Given the description of an element on the screen output the (x, y) to click on. 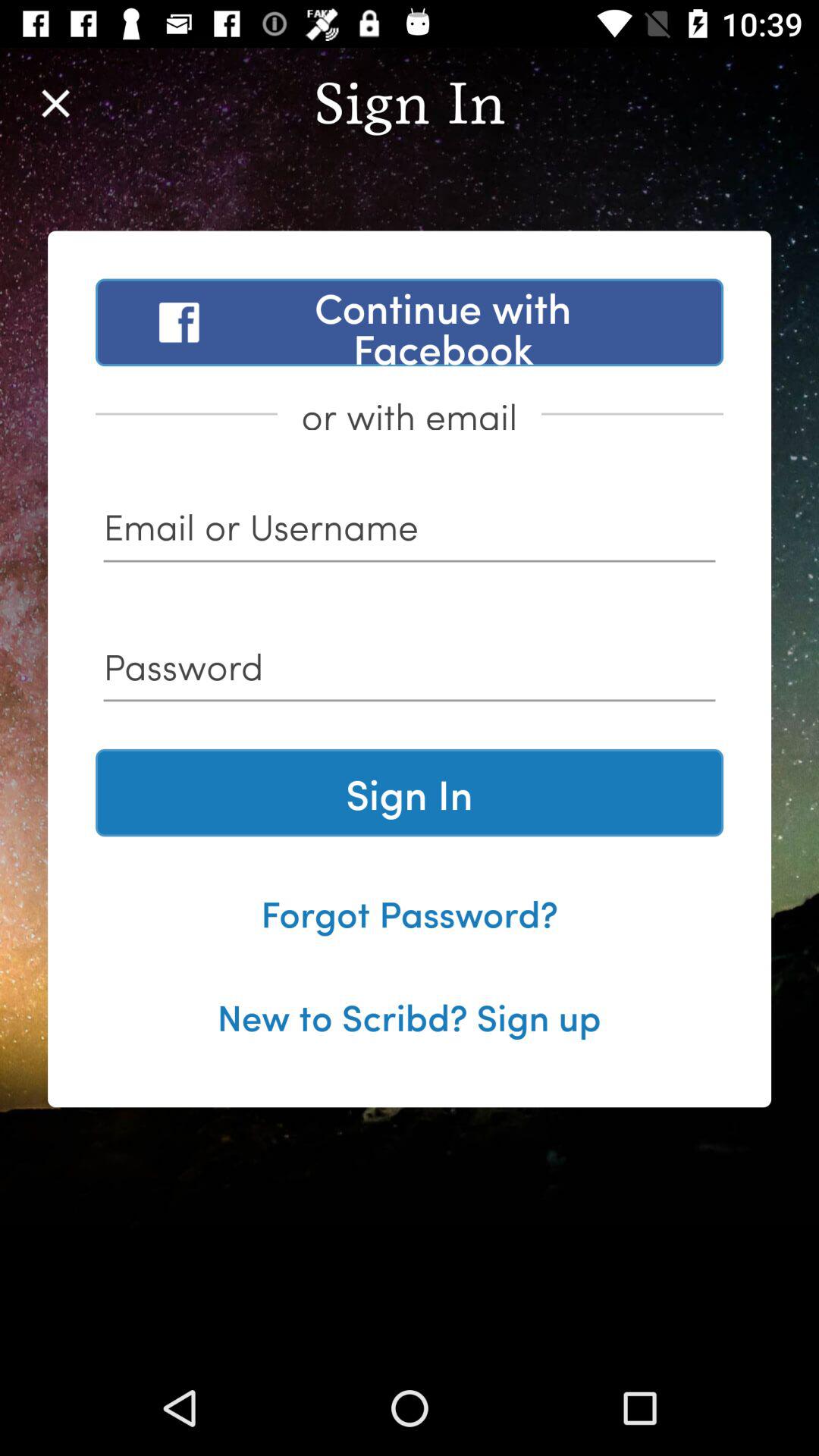
tap the new to scribd (409, 1015)
